Given the description of an element on the screen output the (x, y) to click on. 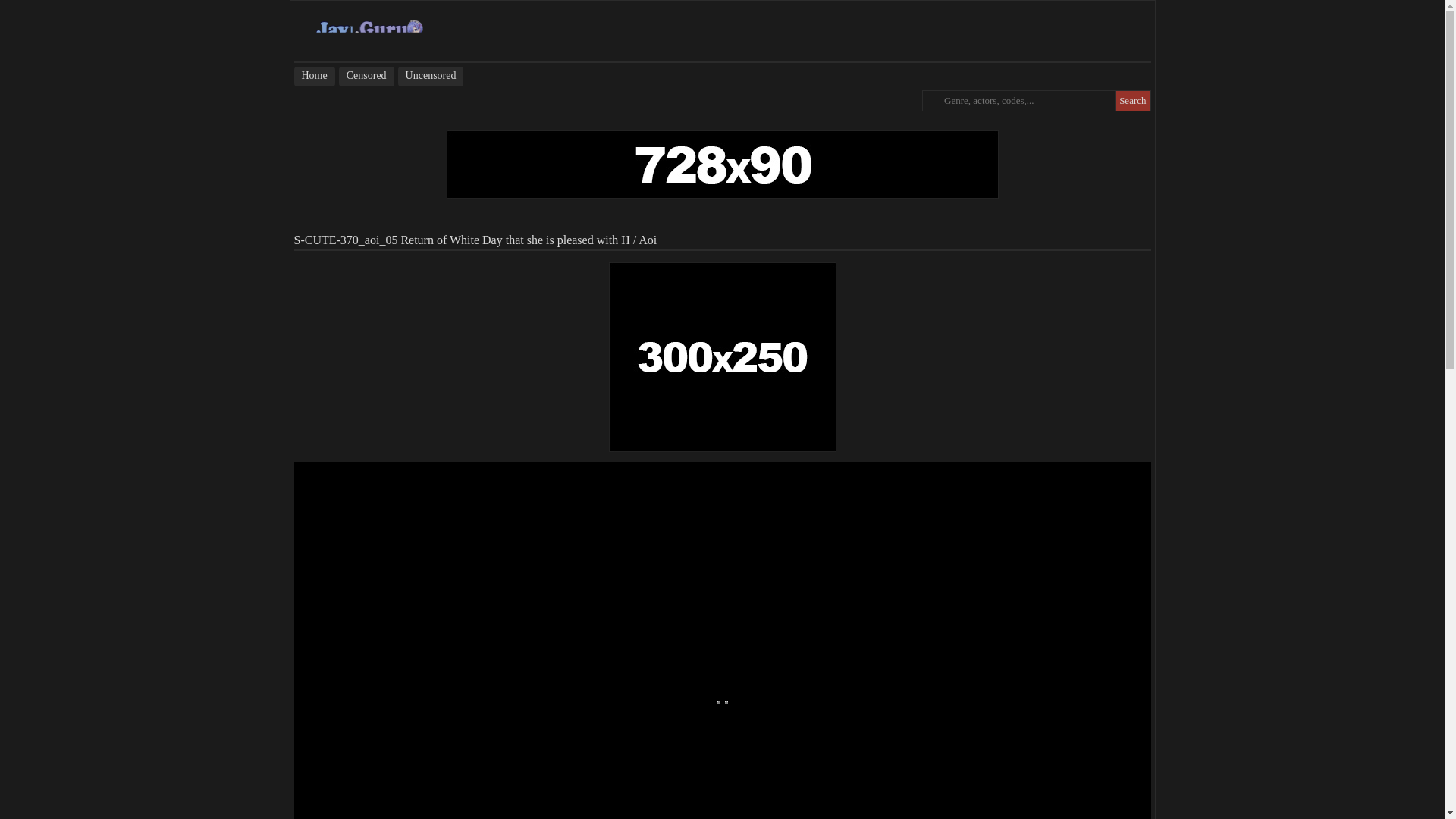
Jav1.Guru (369, 30)
Search (1132, 100)
Search (1132, 100)
Uncensored (430, 76)
Censored (366, 76)
Search (1132, 100)
Home (314, 76)
